Given the description of an element on the screen output the (x, y) to click on. 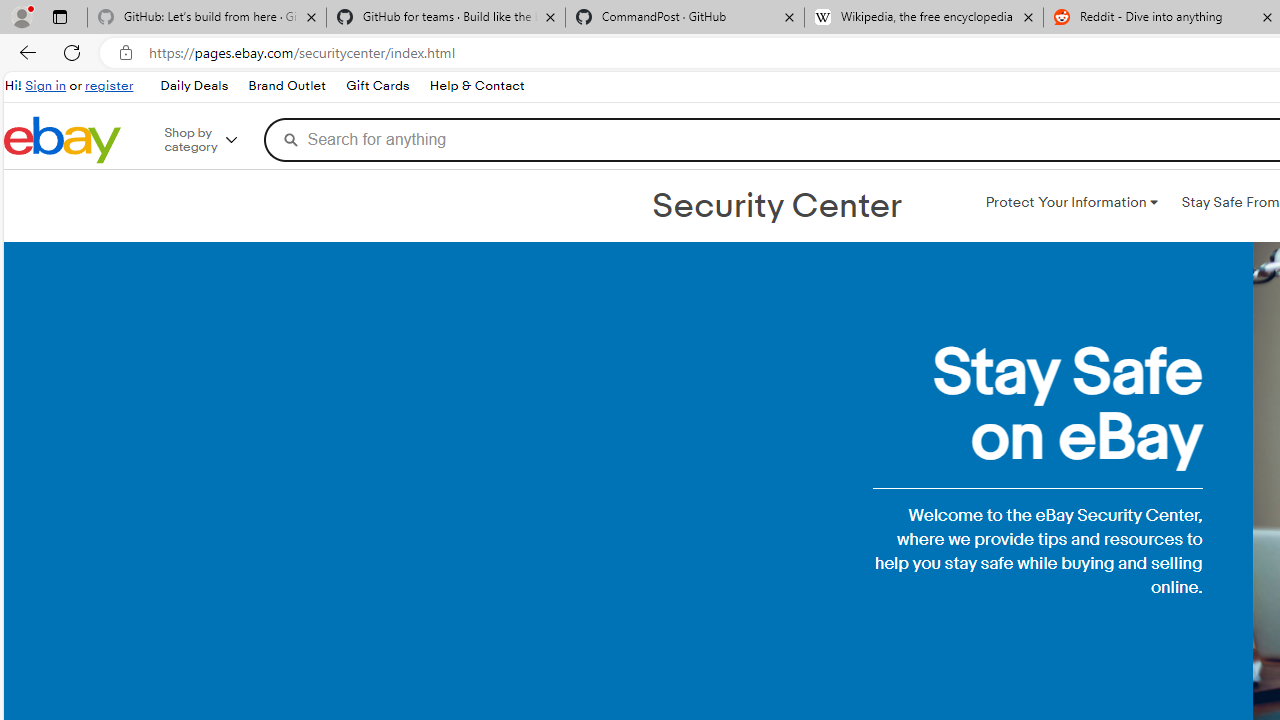
register (109, 85)
Wikipedia, the free encyclopedia (924, 17)
Daily Deals (193, 85)
Security Center (776, 206)
Protect Your Information  (1071, 202)
eBay Home (62, 139)
Brand Outlet (285, 85)
